Given the description of an element on the screen output the (x, y) to click on. 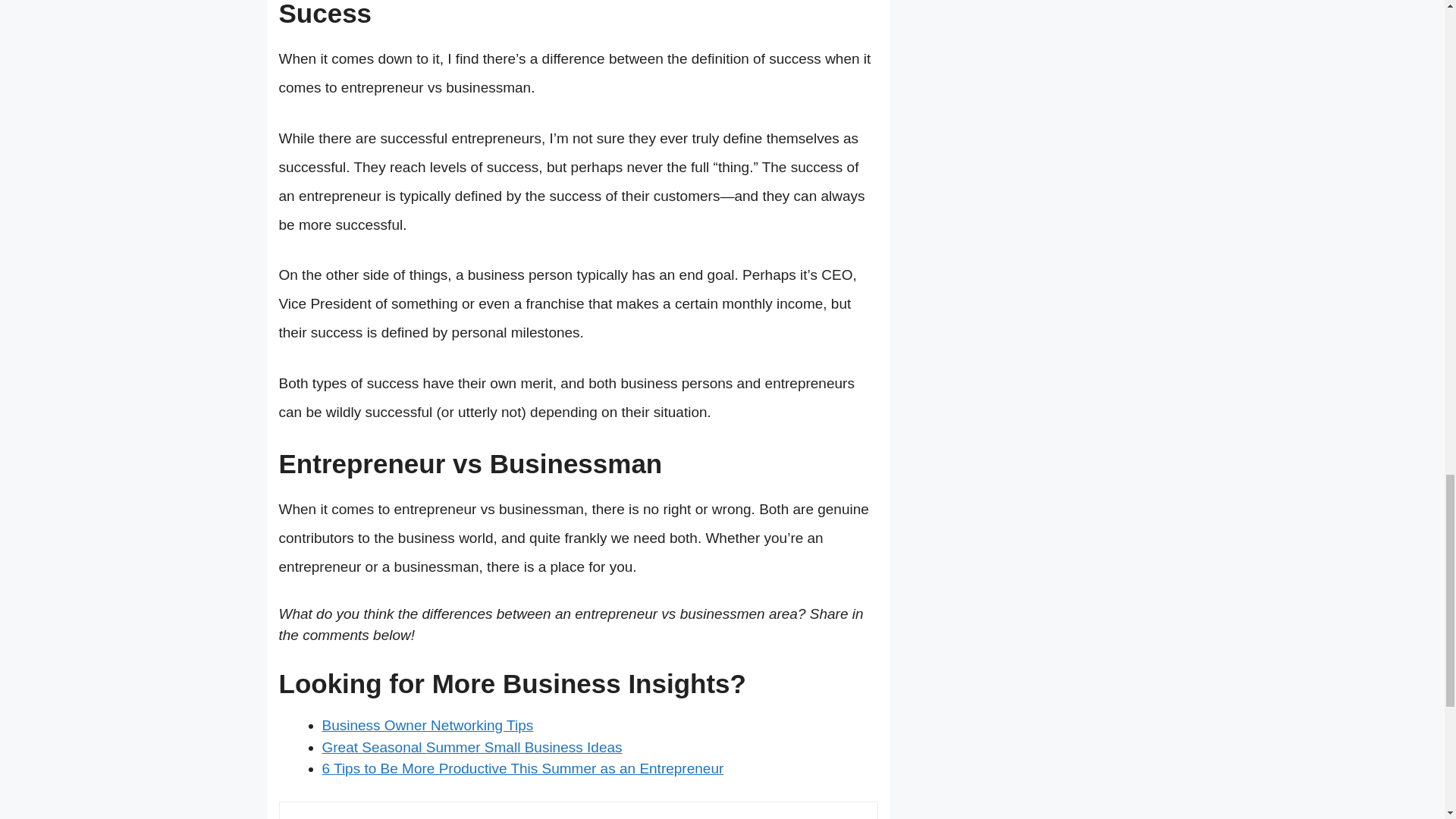
Business Owner Networking Tips (426, 725)
Great Seasonal Summer Small Business Ideas (471, 747)
6 Tips to Be More Productive This Summer as an Entrepreneur (522, 768)
